Given the description of an element on the screen output the (x, y) to click on. 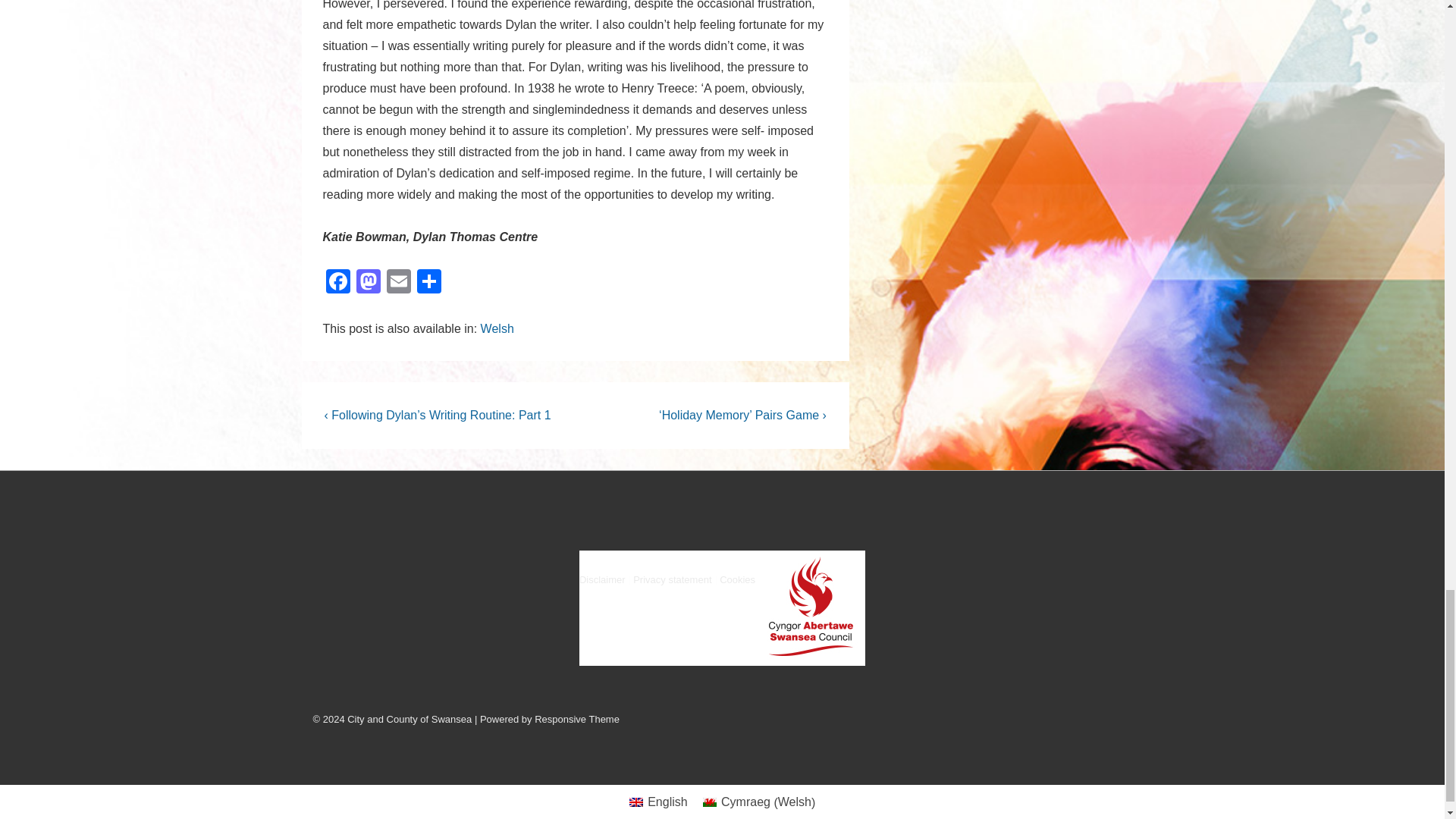
English (635, 801)
Facebook (338, 283)
Cymraeg (709, 801)
Mastodon (368, 283)
Email (398, 283)
